Given the description of an element on the screen output the (x, y) to click on. 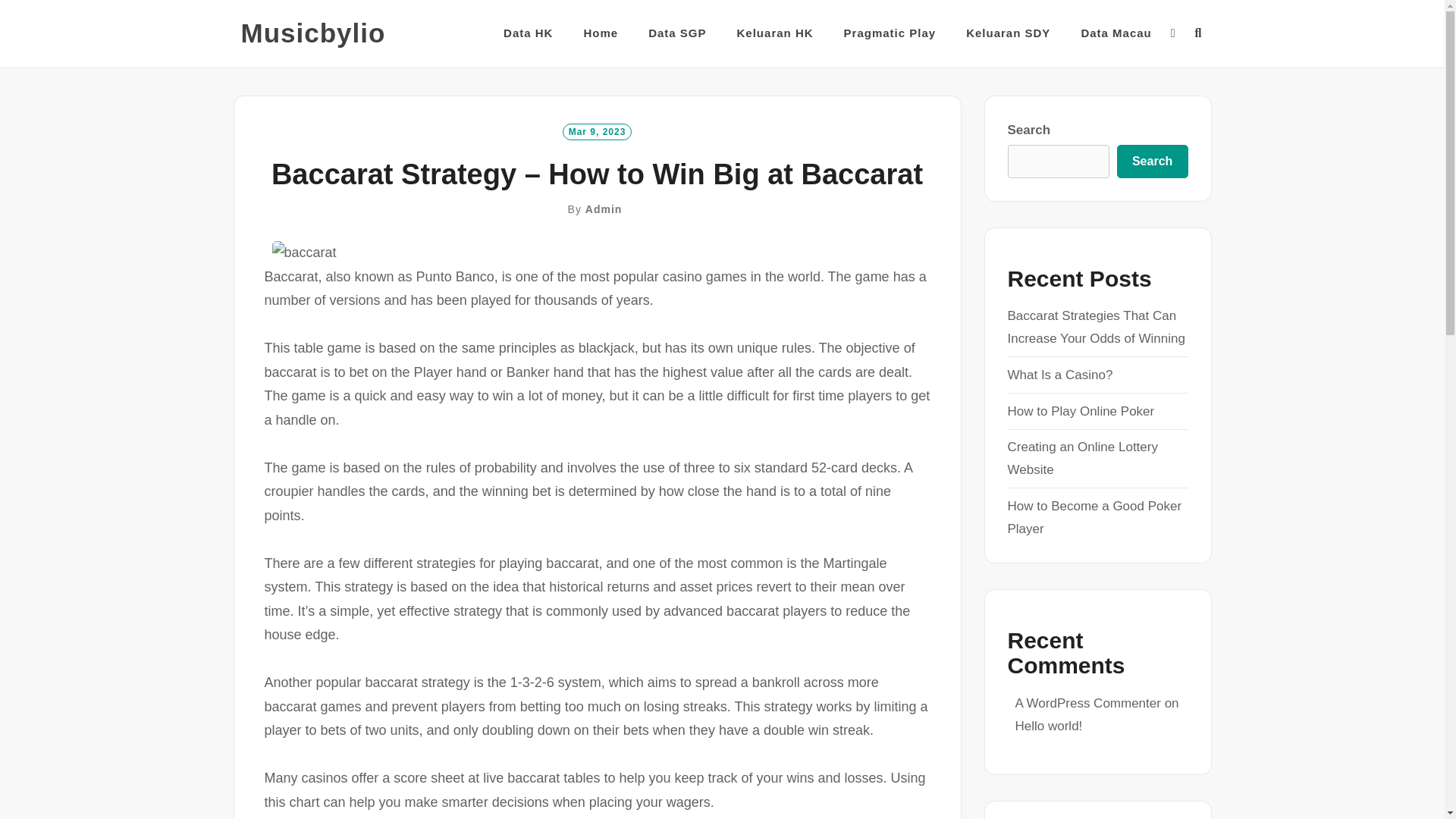
Mar 9, 2023 (596, 130)
Data SGP (676, 33)
What Is a Casino? (1059, 374)
Musicbylio (313, 33)
Creating an Online Lottery Website (1082, 457)
Keluaran SDY (1007, 33)
Home (600, 33)
How to Become a Good Poker Player (1093, 517)
Data Macau (1115, 33)
How to Play Online Poker (1080, 411)
